Given the description of an element on the screen output the (x, y) to click on. 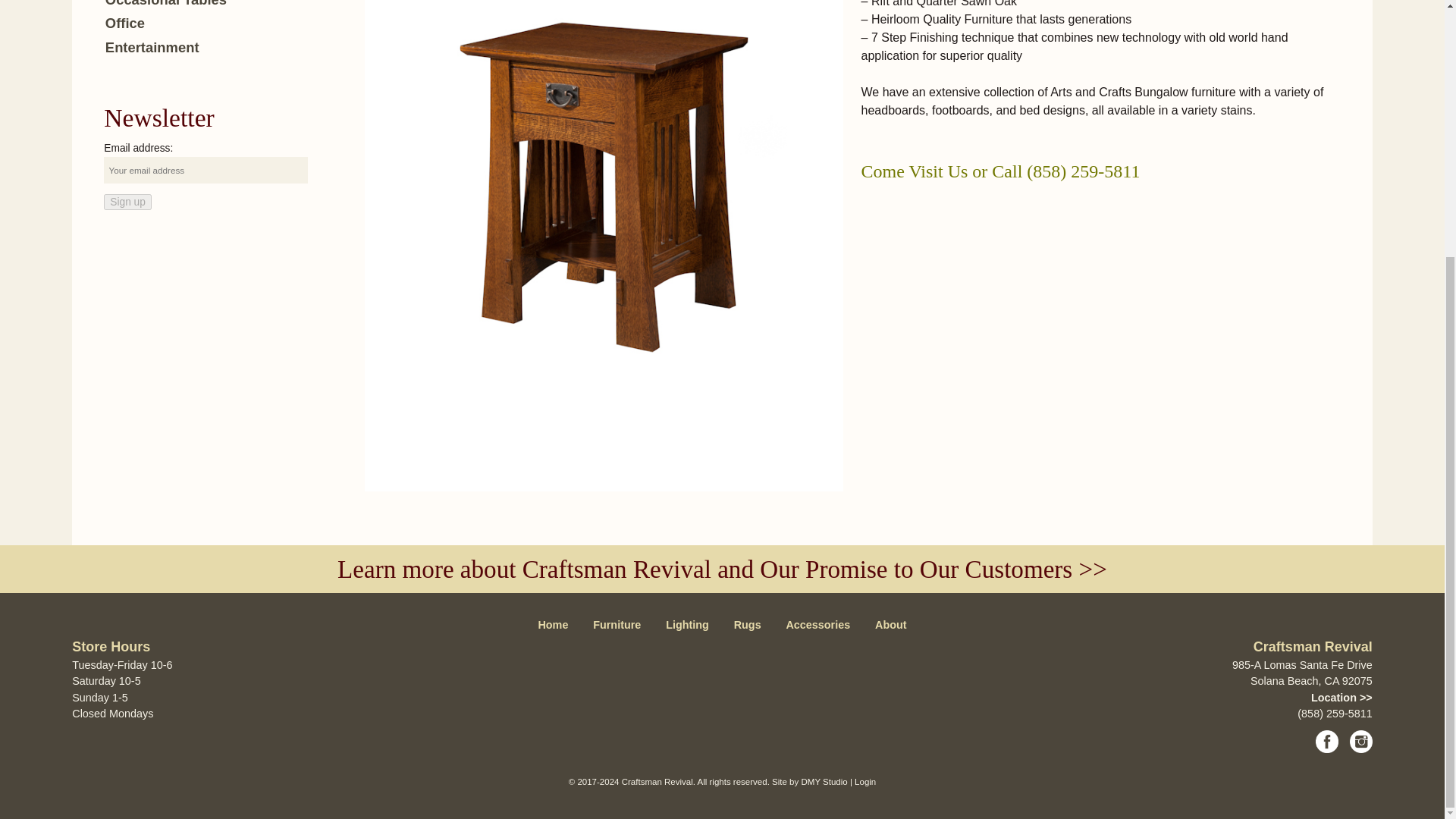
Entertainment (151, 47)
Lighting (687, 626)
Rugs (746, 626)
Occasional Tables (165, 3)
About (890, 626)
Sign up (127, 201)
Home (553, 626)
Furniture (617, 626)
Sign up (127, 201)
Office (124, 23)
